Given the description of an element on the screen output the (x, y) to click on. 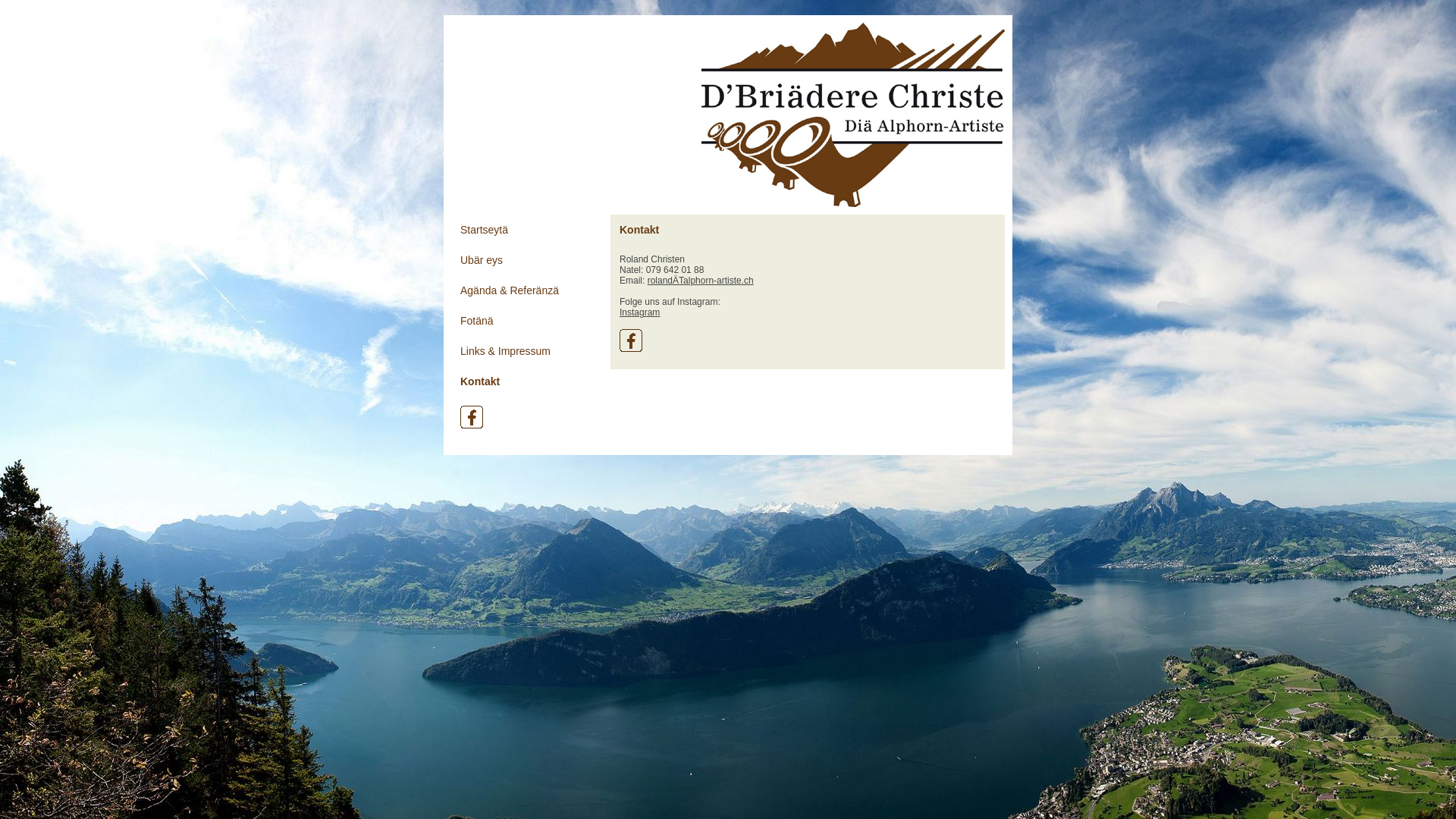
Instagram Element type: text (639, 312)
Kontakt Element type: text (526, 381)
Links & Impressum Element type: text (526, 350)
